Given the description of an element on the screen output the (x, y) to click on. 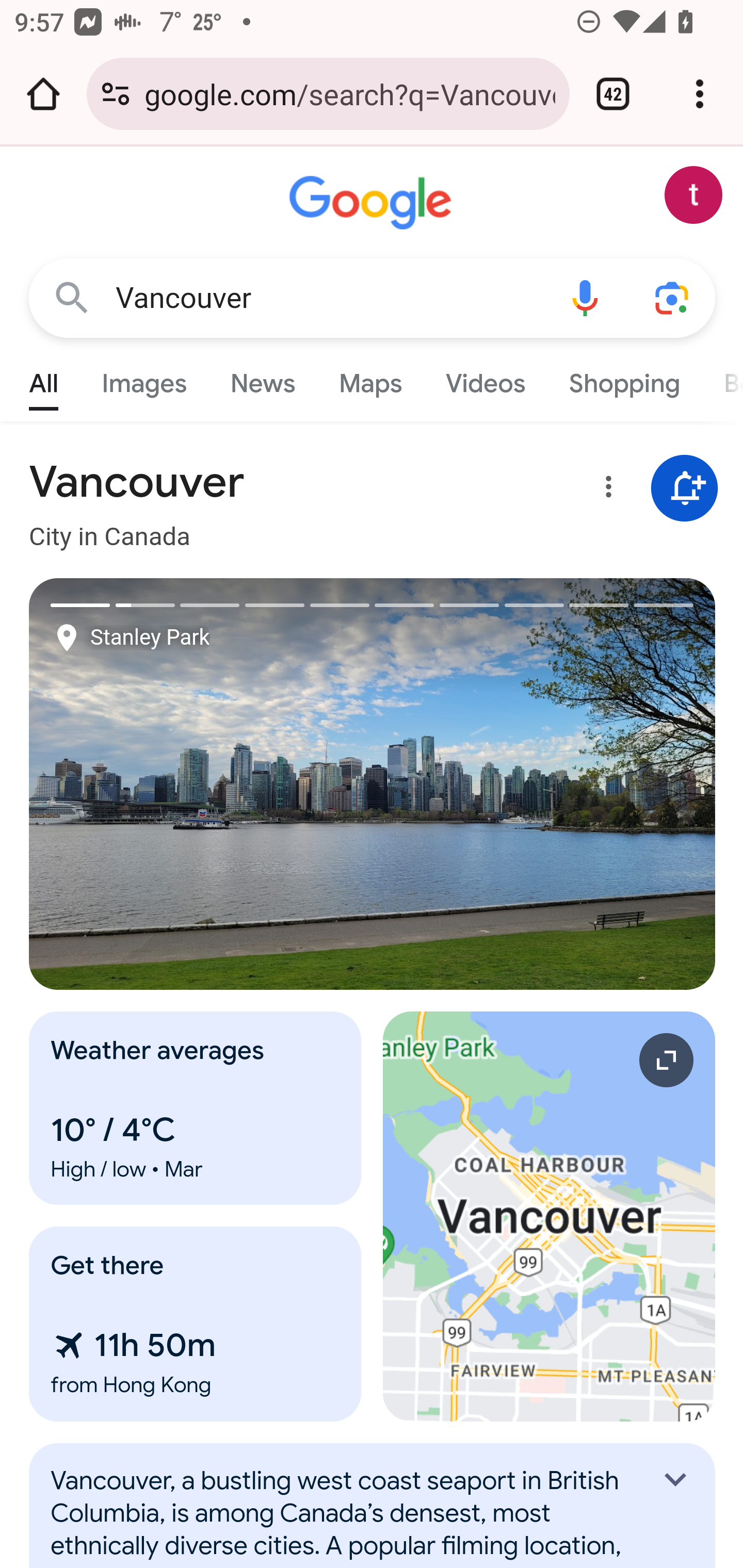
Open the home page (43, 93)
Connection is secure (115, 93)
Switch or close tabs (612, 93)
Customize and control Google Chrome (699, 93)
Google (372, 203)
Google Search (71, 296)
Search using your camera or photos (672, 296)
Vancouver (328, 297)
Images (144, 378)
News (262, 378)
Maps (369, 378)
Videos (485, 378)
Shopping (623, 378)
Get notifications about Vancouver (684, 489)
More options (605, 489)
Previous image (200, 783)
Next image (544, 783)
Weather averages 10° / 4°C High / low • Mar (195, 1108)
Expand map (549, 1216)
